Given the description of an element on the screen output the (x, y) to click on. 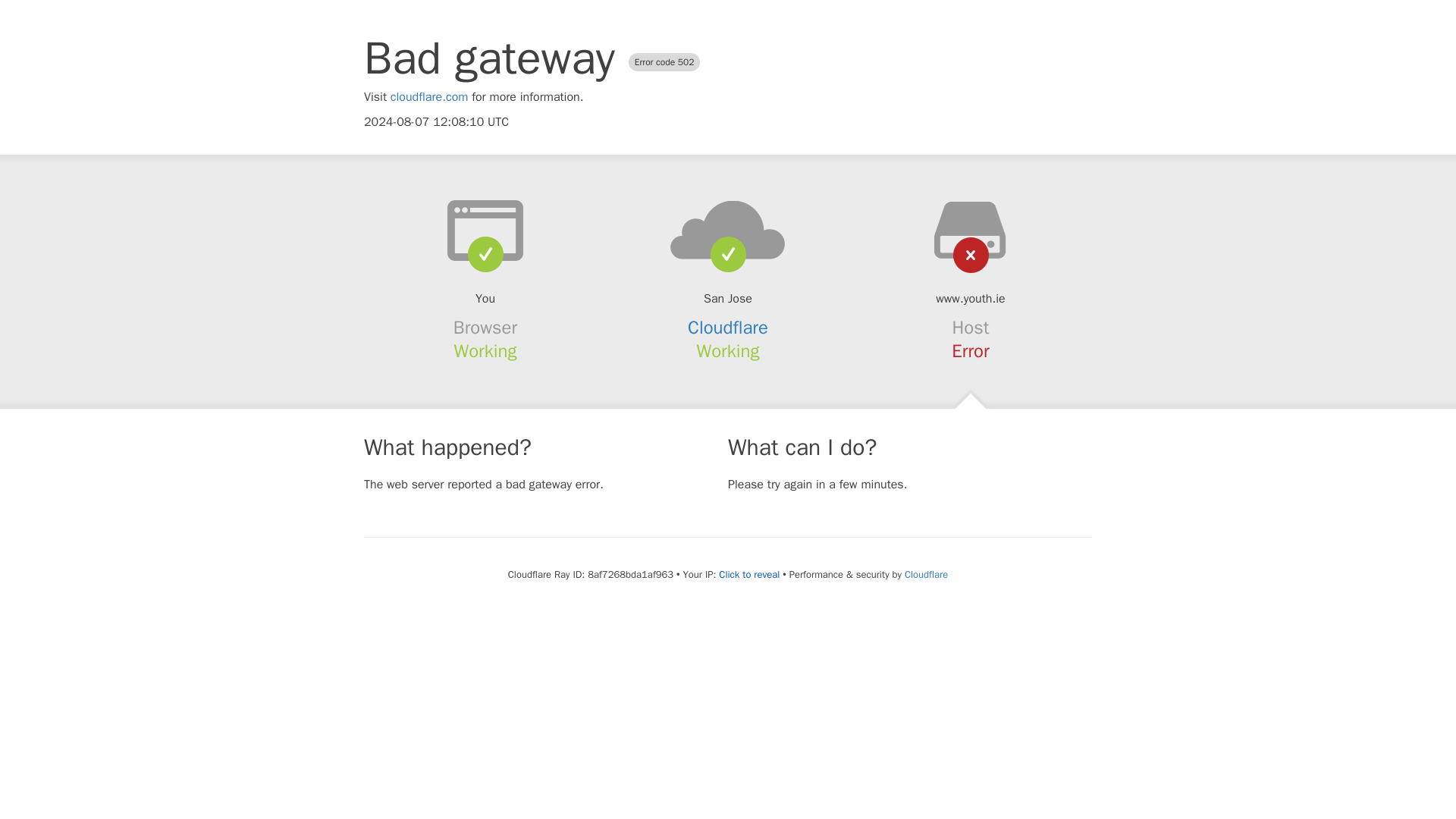
Click to reveal (748, 574)
Cloudflare (727, 327)
cloudflare.com (429, 96)
Cloudflare (925, 574)
